Given the description of an element on the screen output the (x, y) to click on. 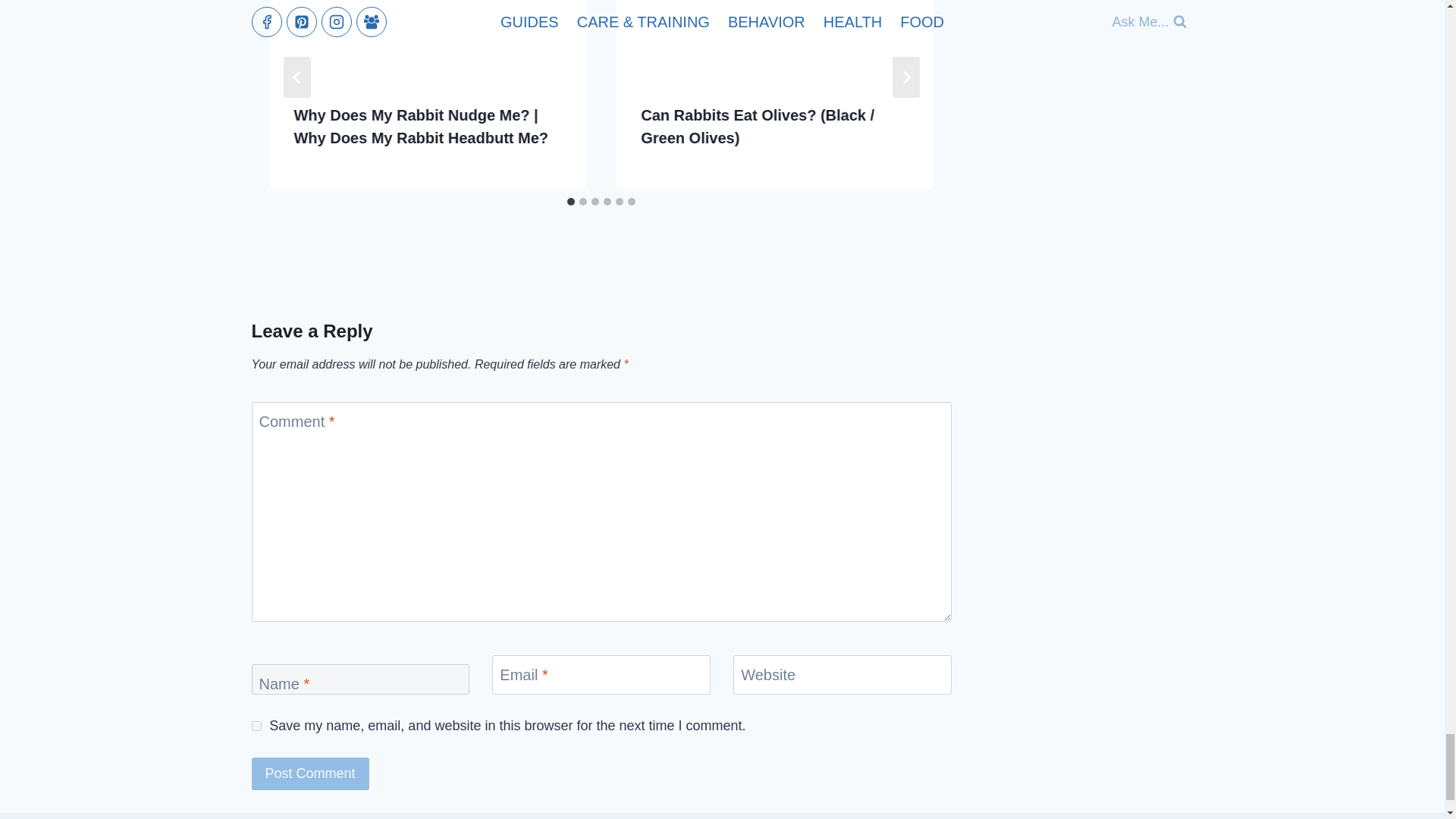
yes (256, 726)
Post Comment (310, 773)
